Given the description of an element on the screen output the (x, y) to click on. 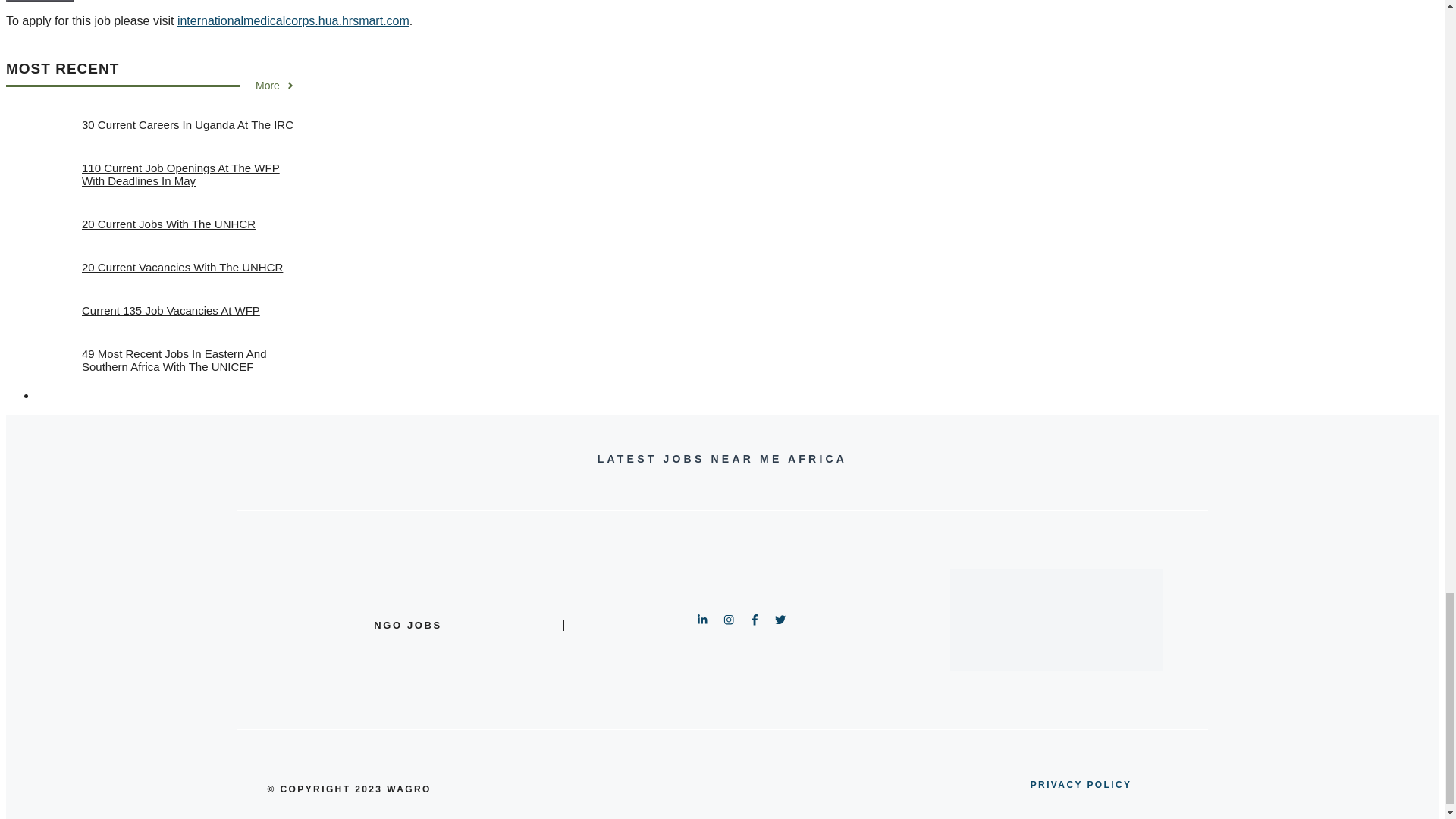
Current 135 Job Vacancies At WFP (170, 309)
30 Current Careers In Uganda At The IRC (187, 124)
PRIVACY POLICY (1081, 784)
Apply for job (39, 1)
More (275, 85)
20 Current Vacancies With The UNHCR (181, 267)
20 Current Jobs With The UNHCR (168, 223)
110 Current Job Openings At The WFP With Deadlines In May (180, 174)
internationalmedicalcorps.hua.hrsmart.com (293, 20)
